Given the description of an element on the screen output the (x, y) to click on. 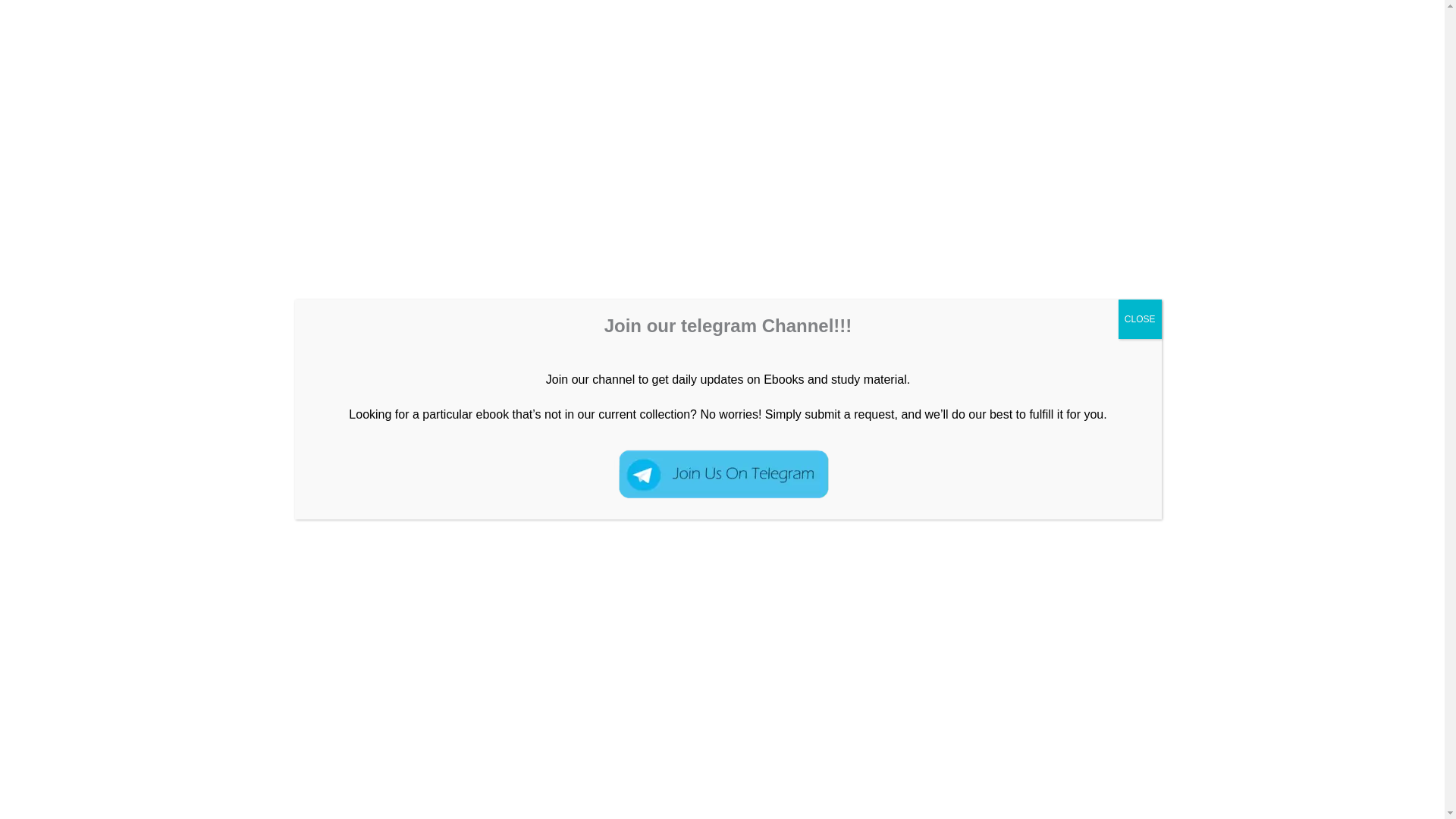
8 Comments (128, 291)
PHYSICS (598, 291)
MATHEMATICS (1225, 67)
JEE (312, 291)
BIOLOGY (1320, 67)
JIGS SOLANKI (817, 291)
CBSE (1388, 67)
SHORTCUT TRICKS (689, 291)
KVPY STUDY MATERIAL (493, 291)
CHEMISTRY (1122, 67)
JIGSSOLANKI (285, 67)
DISHA PUBLICATION (233, 291)
PHYSICS (1036, 67)
JEE ADVANCE (371, 291)
